Given the description of an element on the screen output the (x, y) to click on. 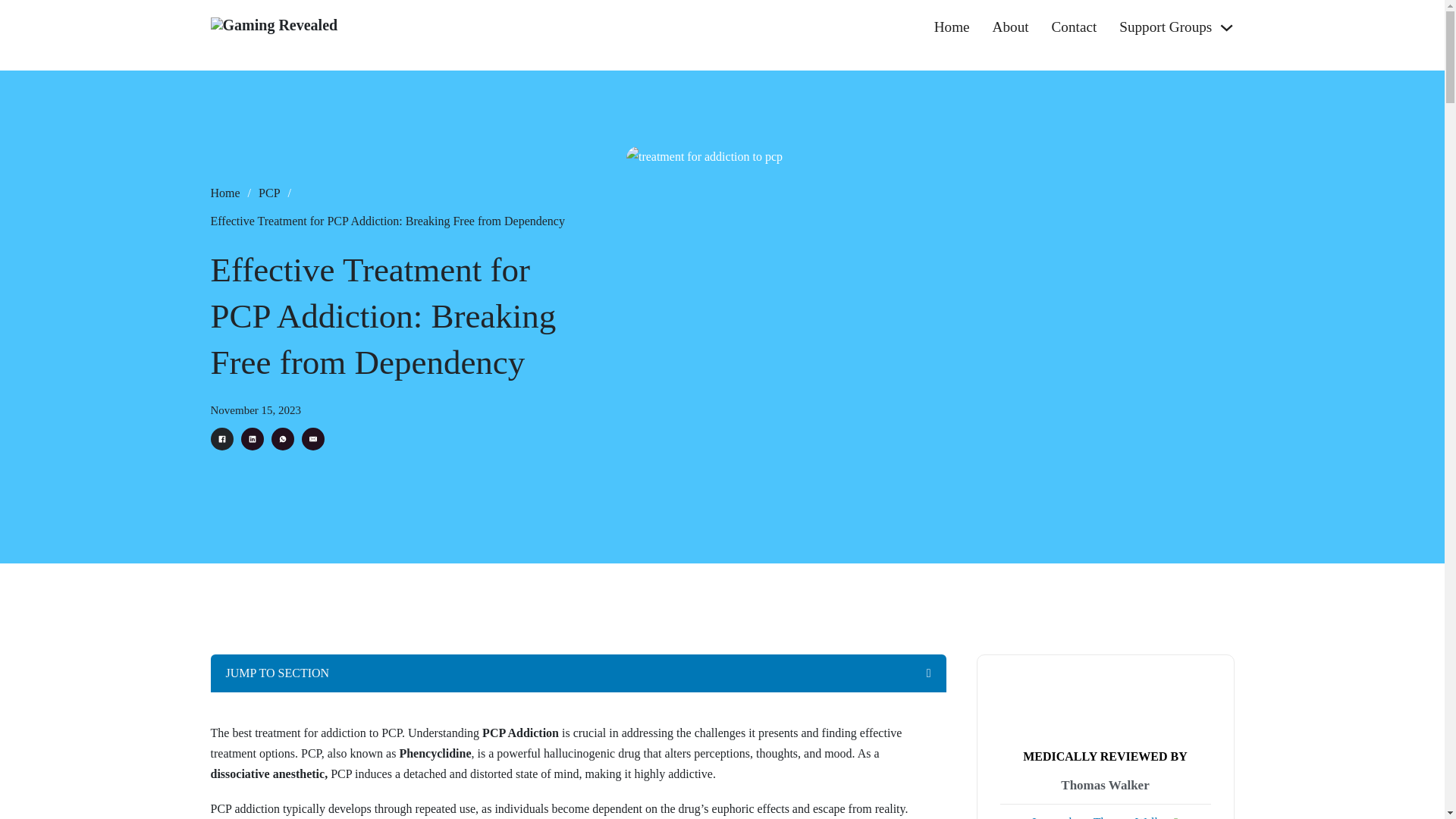
Home (951, 27)
PCP (269, 192)
Home (225, 192)
MEDICALLY REVIEWED BY (1105, 756)
Support Groups (1165, 27)
About (1010, 27)
Contact (1074, 27)
Thomas Walker (1104, 785)
